Given the description of an element on the screen output the (x, y) to click on. 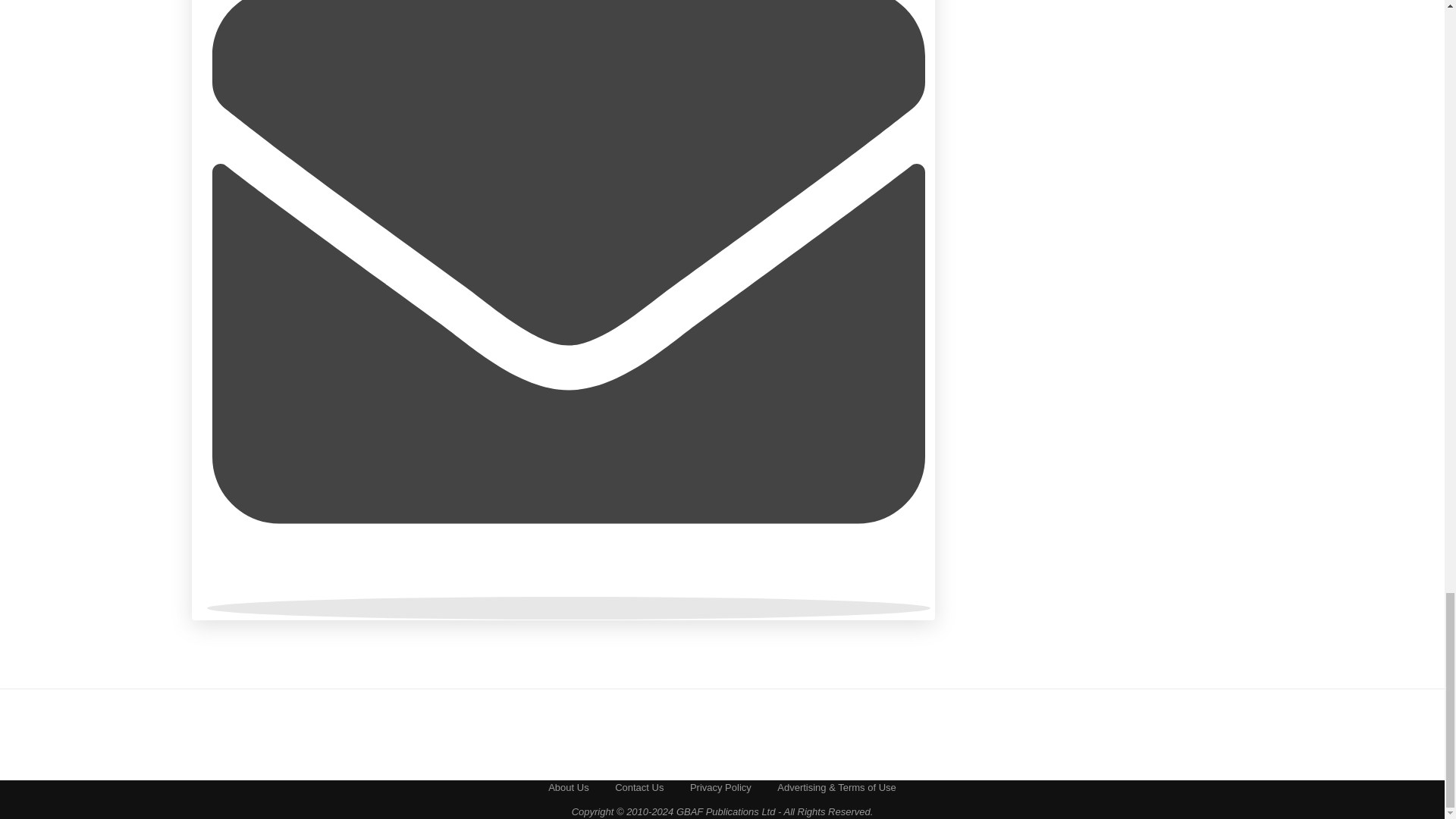
User email (568, 608)
